Given the description of an element on the screen output the (x, y) to click on. 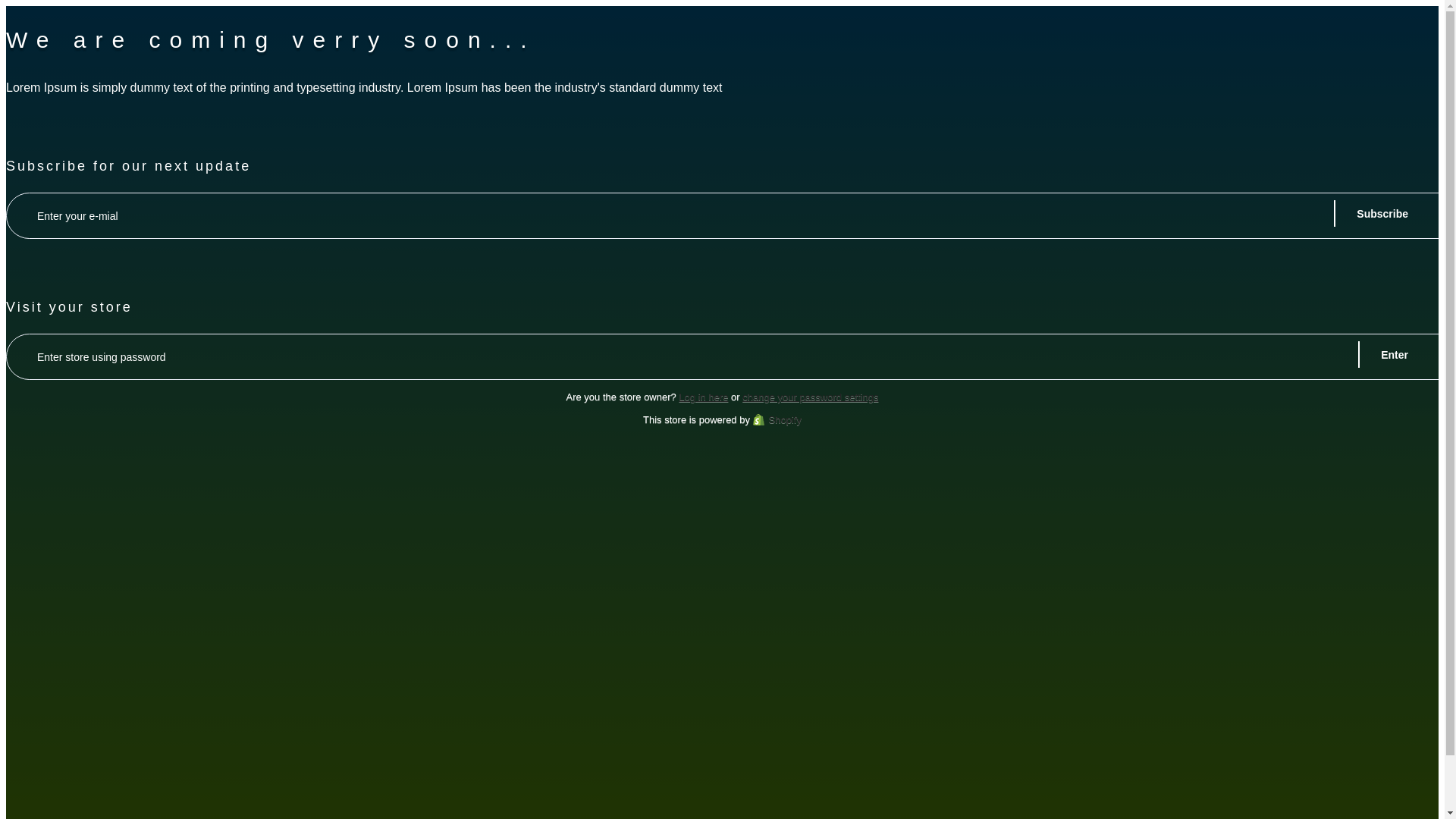
Shopify (777, 419)
Create your own online store with Shopify (777, 419)
change your password settings (809, 396)
Log in here (703, 396)
